Given the description of an element on the screen output the (x, y) to click on. 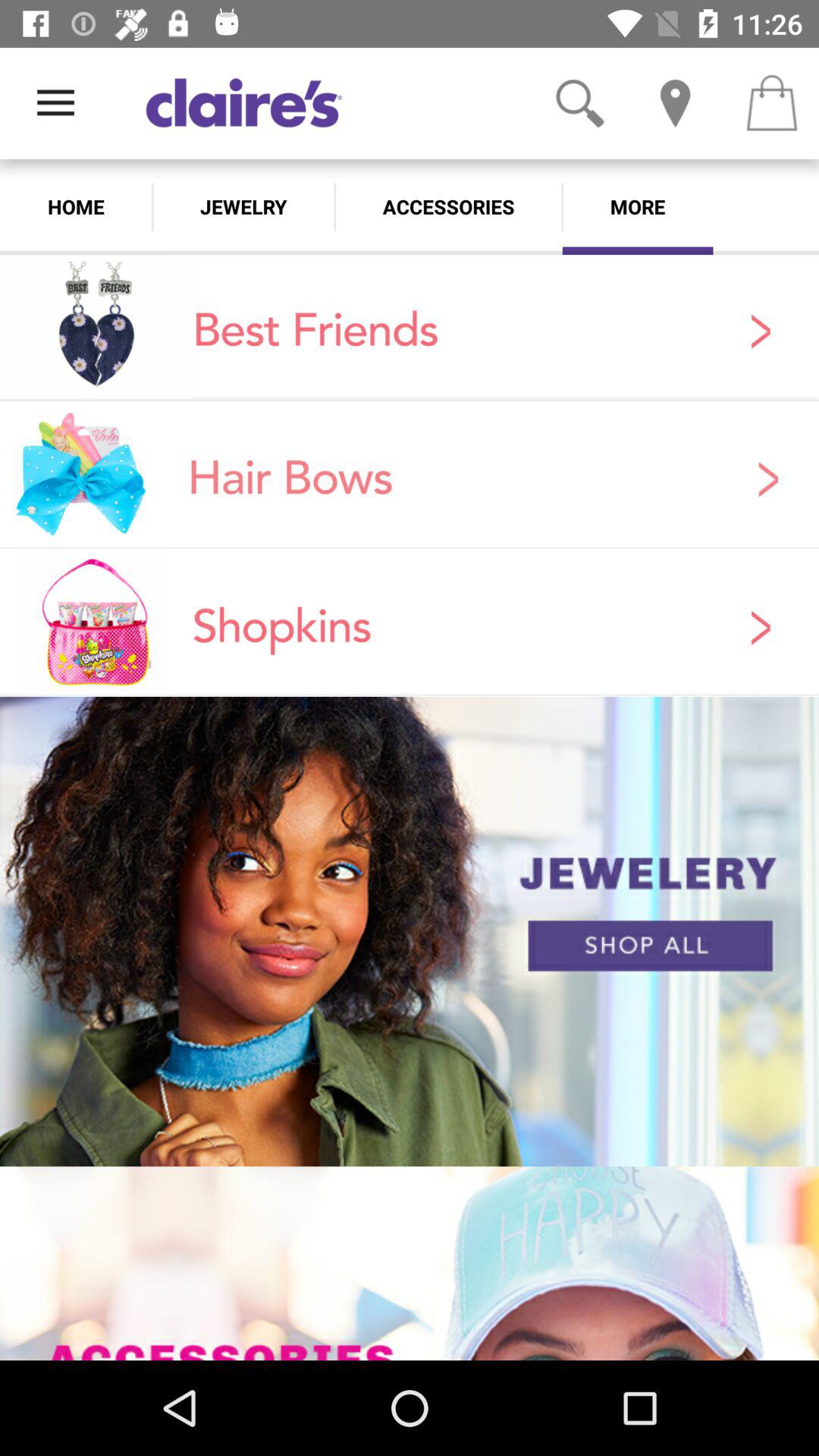
add to cart (771, 103)
